Given the description of an element on the screen output the (x, y) to click on. 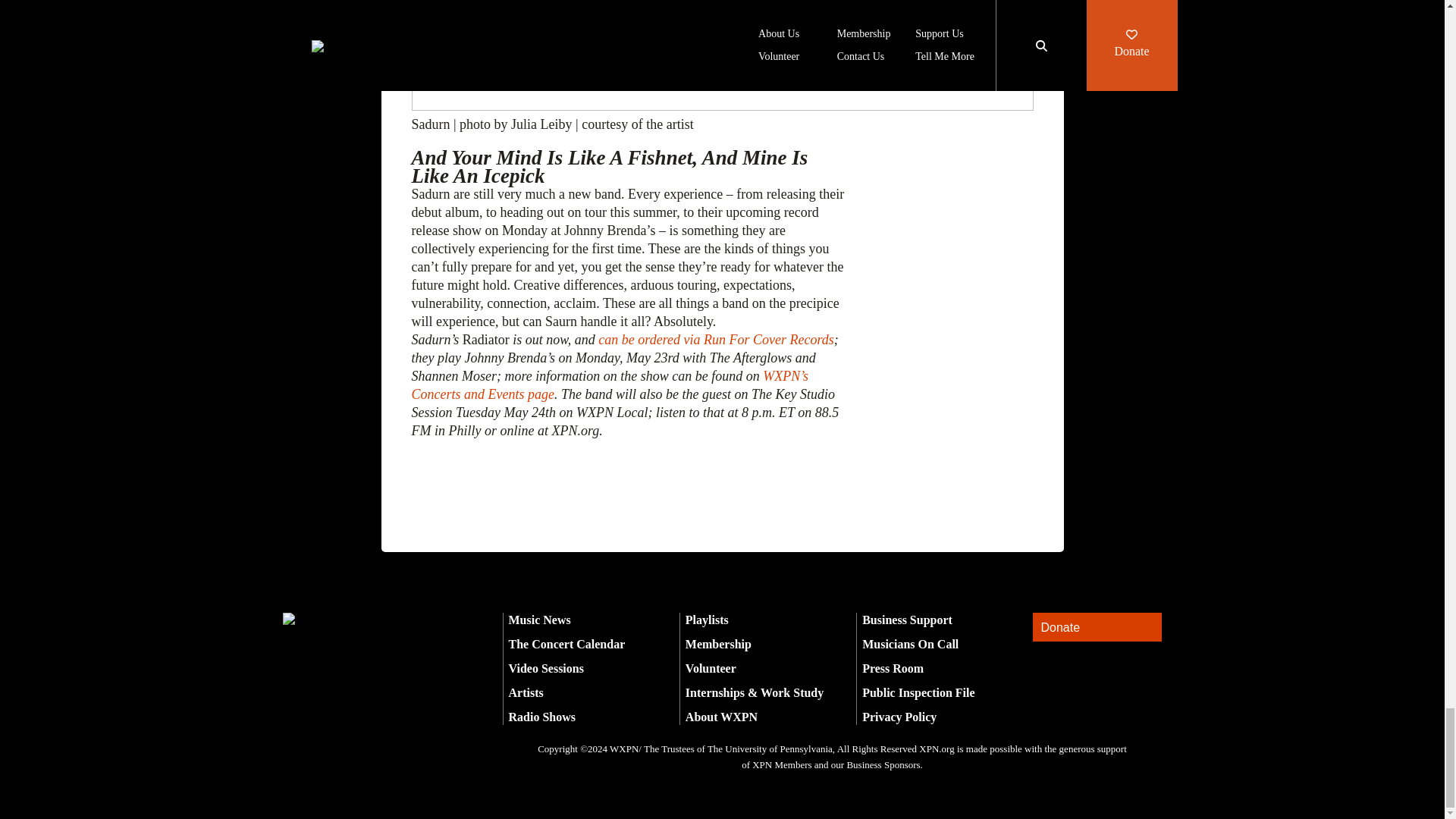
Musicians On Call (909, 644)
Membership (718, 644)
The Concert Calendar (566, 644)
Press Room (892, 667)
Video Sessions (545, 667)
Public Inspection File (917, 692)
Music News (539, 619)
can be ordered via Run For Cover Records (715, 339)
Radio Shows (541, 716)
Playlists (707, 619)
